Given the description of an element on the screen output the (x, y) to click on. 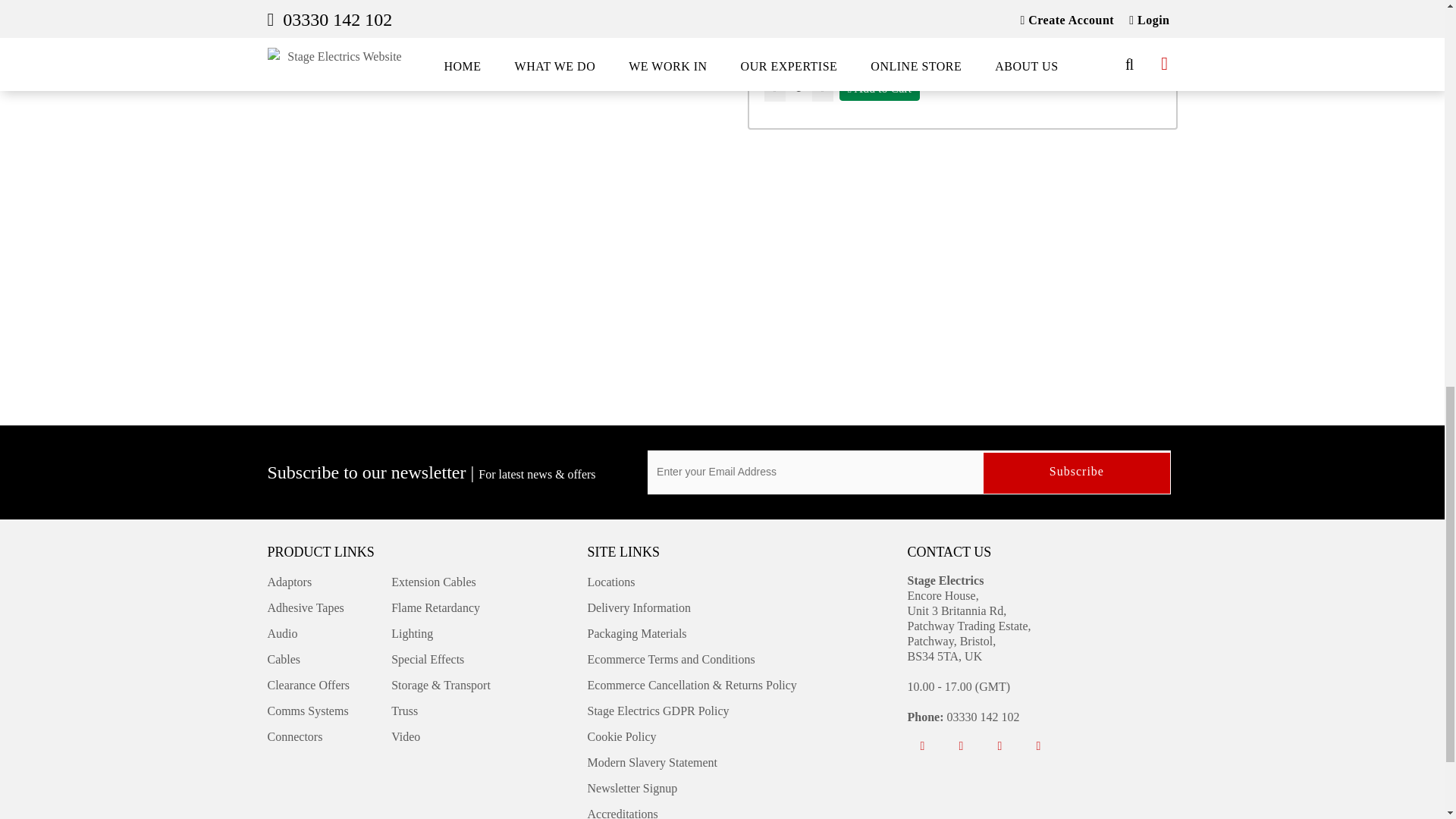
1 (799, 88)
Subscribe (1076, 473)
